Given the description of an element on the screen output the (x, y) to click on. 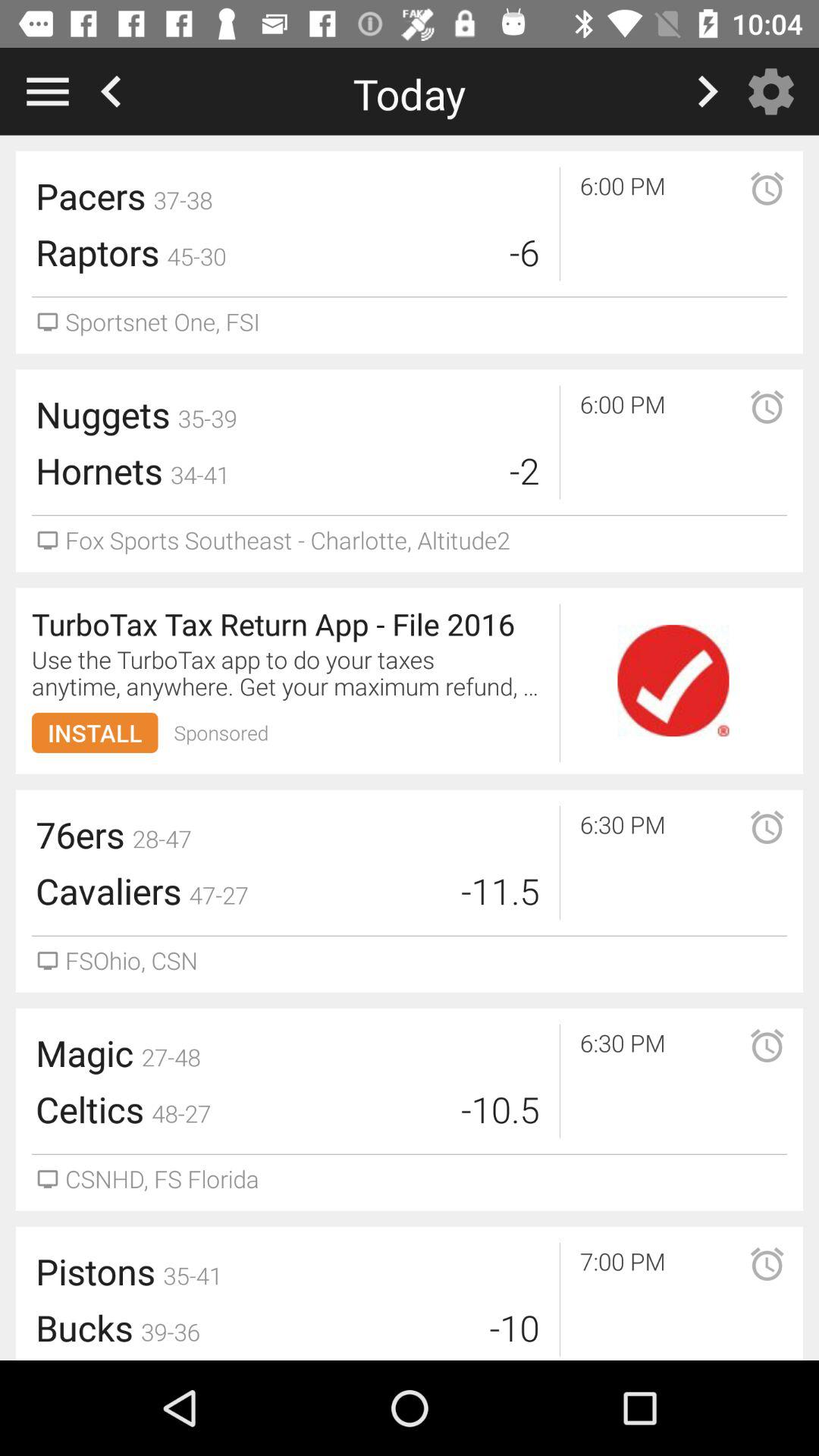
open turbotax tax return icon (289, 623)
